Given the description of an element on the screen output the (x, y) to click on. 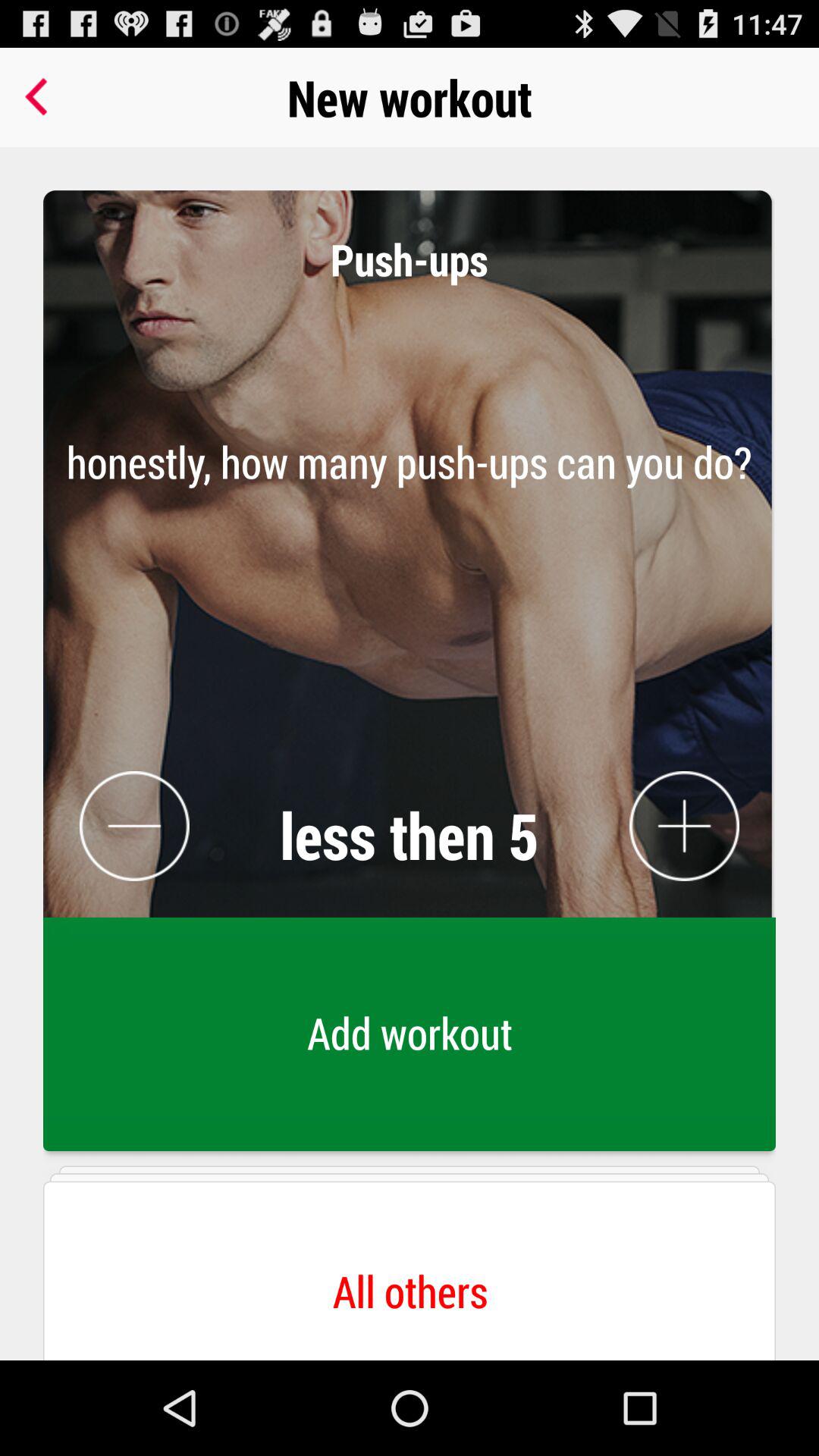
jump to add workout button (409, 1038)
